Given the description of an element on the screen output the (x, y) to click on. 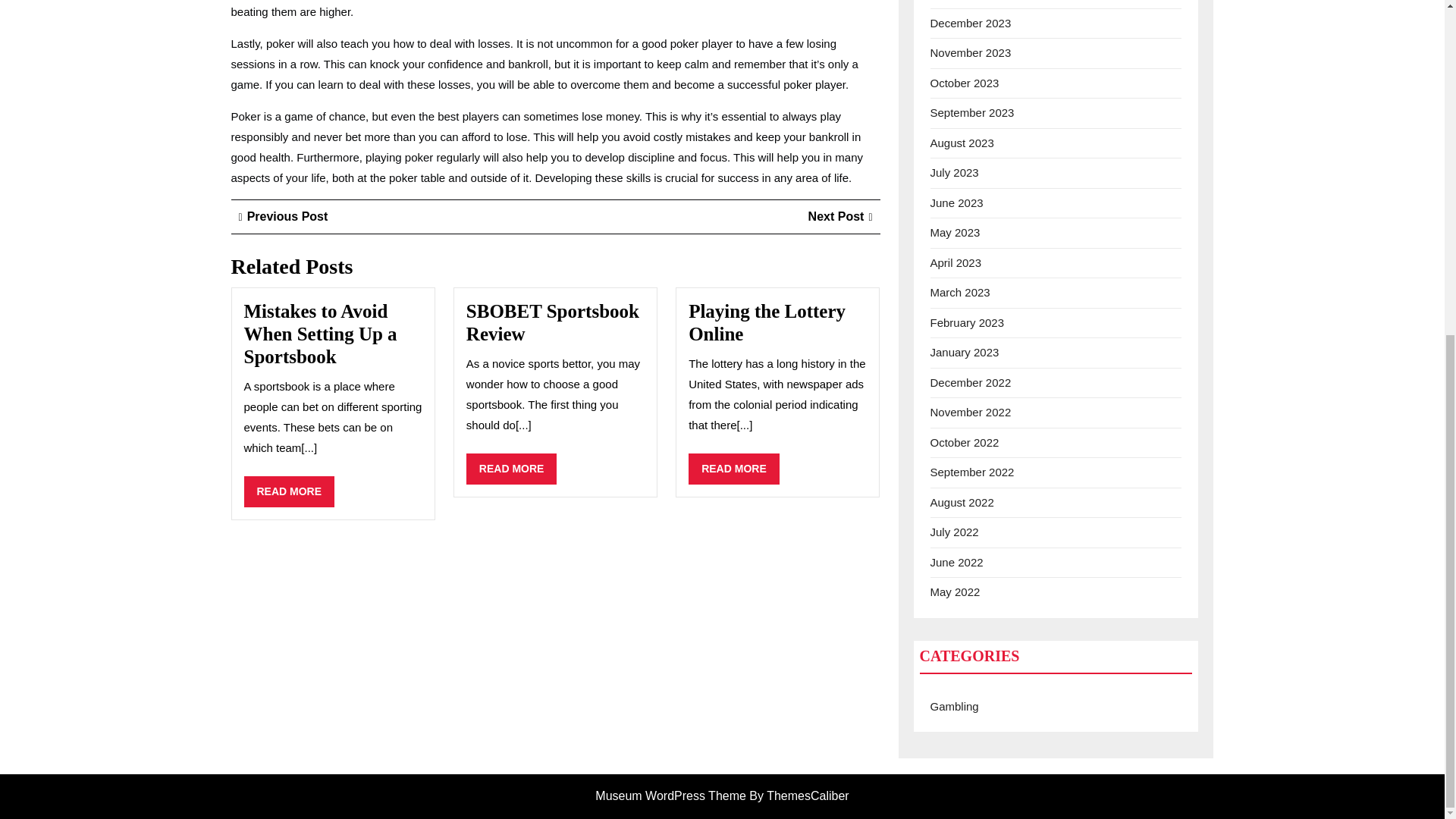
March 2023 (960, 291)
Mistakes to Avoid When Setting Up a Sportsbook (320, 333)
July 2023 (954, 172)
November 2023 (733, 468)
October 2023 (840, 215)
December 2023 (282, 215)
